Given the description of an element on the screen output the (x, y) to click on. 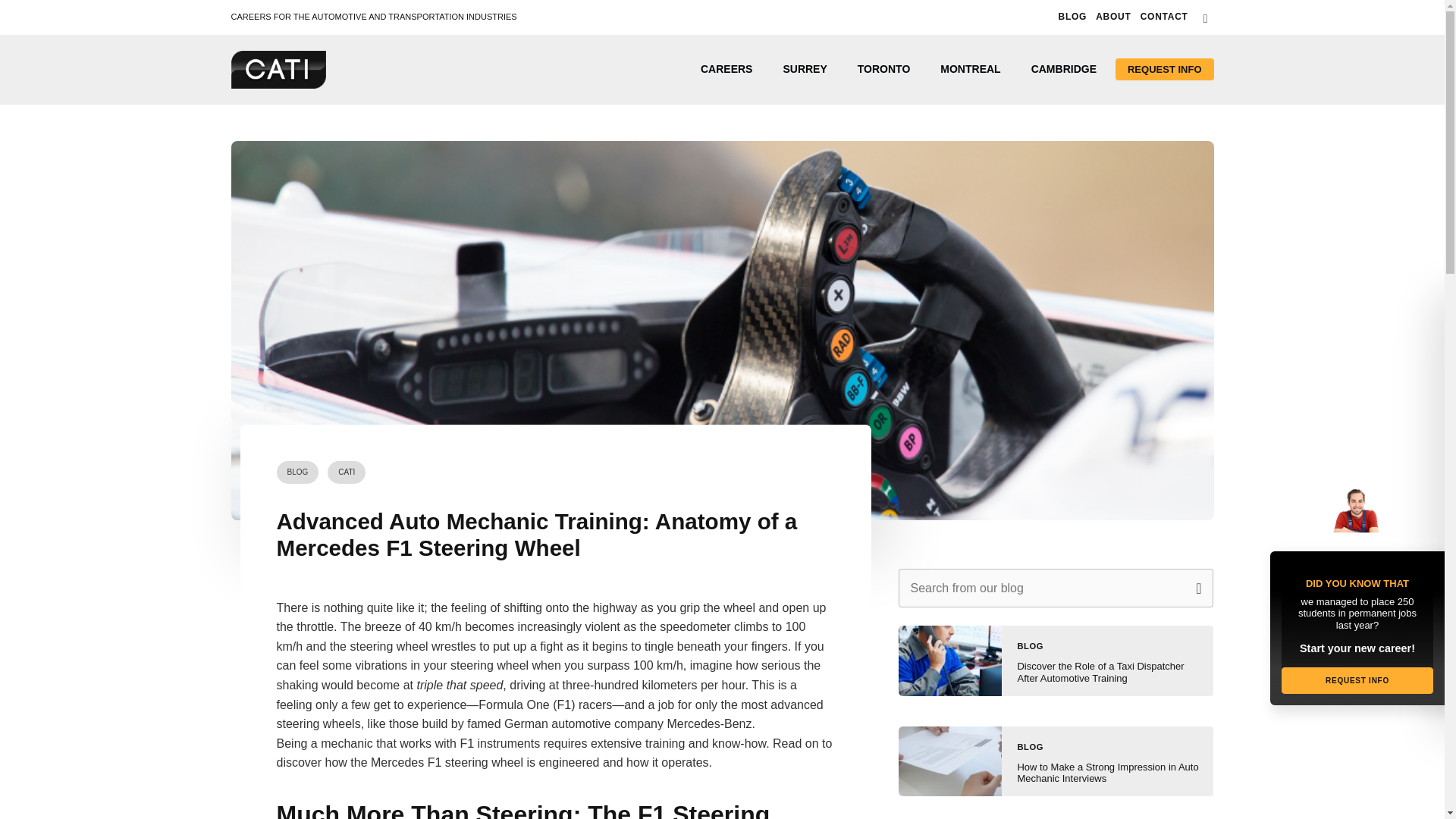
Careers (726, 69)
ABOUT (1113, 17)
Contact (1164, 17)
TORONTO (884, 69)
Cambridge (1064, 69)
CONTACT (1164, 17)
BLOG (297, 472)
BLOG (1072, 17)
About (1113, 17)
Surrey (804, 69)
